Given the description of an element on the screen output the (x, y) to click on. 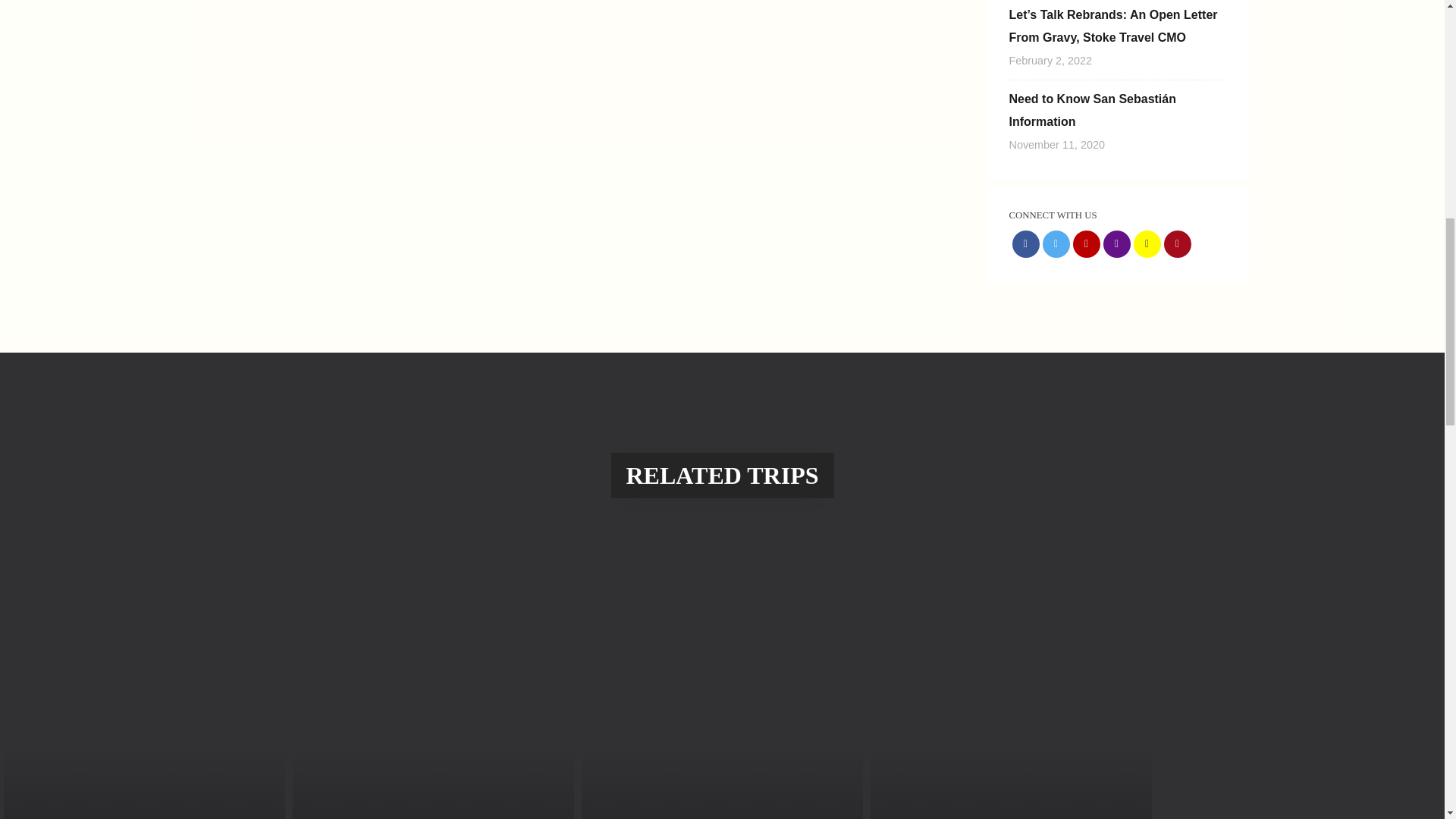
Visit us on facebook (1025, 243)
Visit us on Pinterest (1177, 243)
Visit us on youtube (1085, 243)
Visit us on Twitter (1055, 243)
Visit us on Snapchat (1146, 243)
Visit us on Instagram (1115, 243)
